Given the description of an element on the screen output the (x, y) to click on. 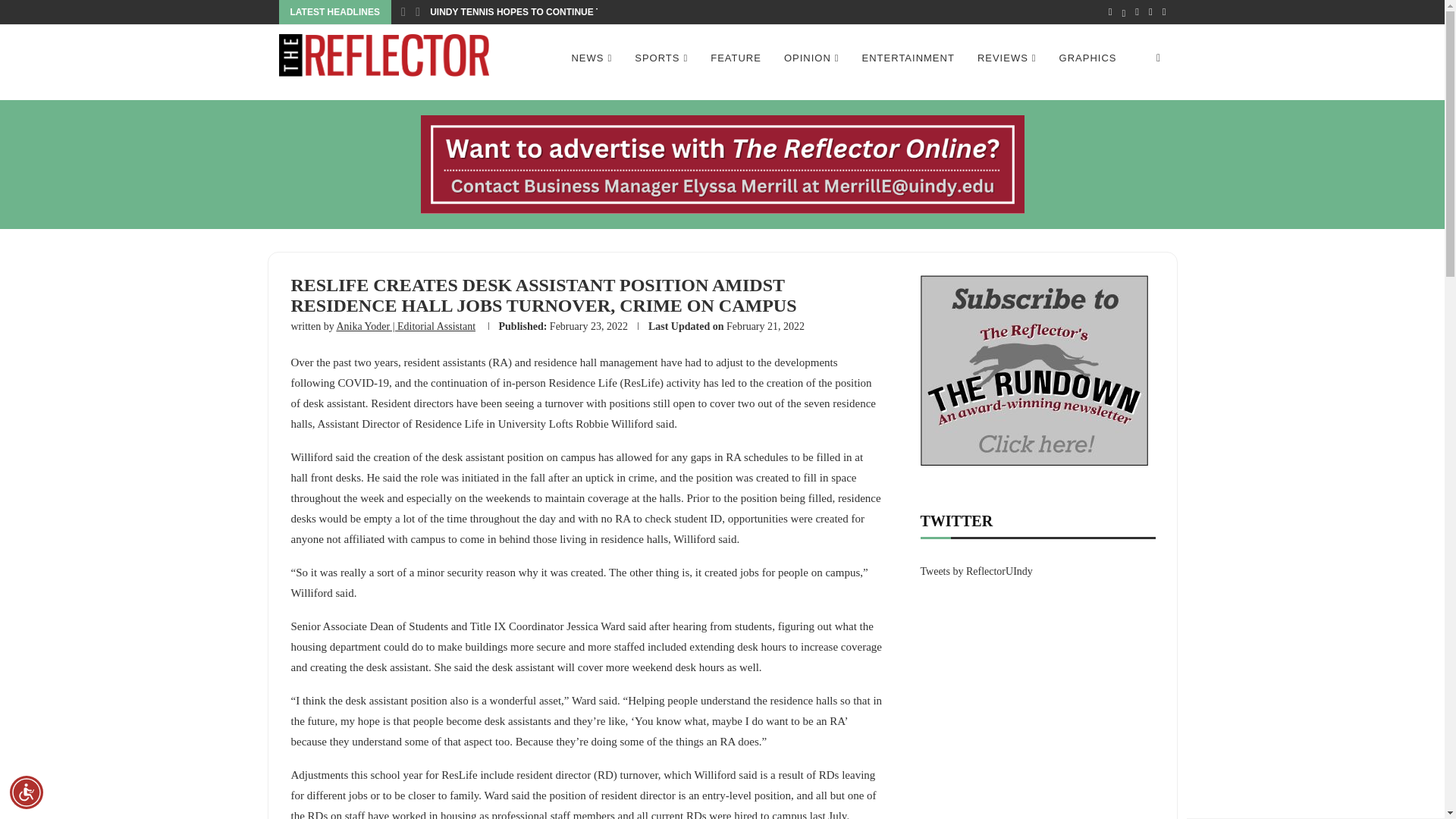
UINDY TENNIS HOPES TO CONTINUE THEIR SUCCESS INTO PLAYOFFS (586, 12)
Accessibility Menu (26, 792)
